Given the description of an element on the screen output the (x, y) to click on. 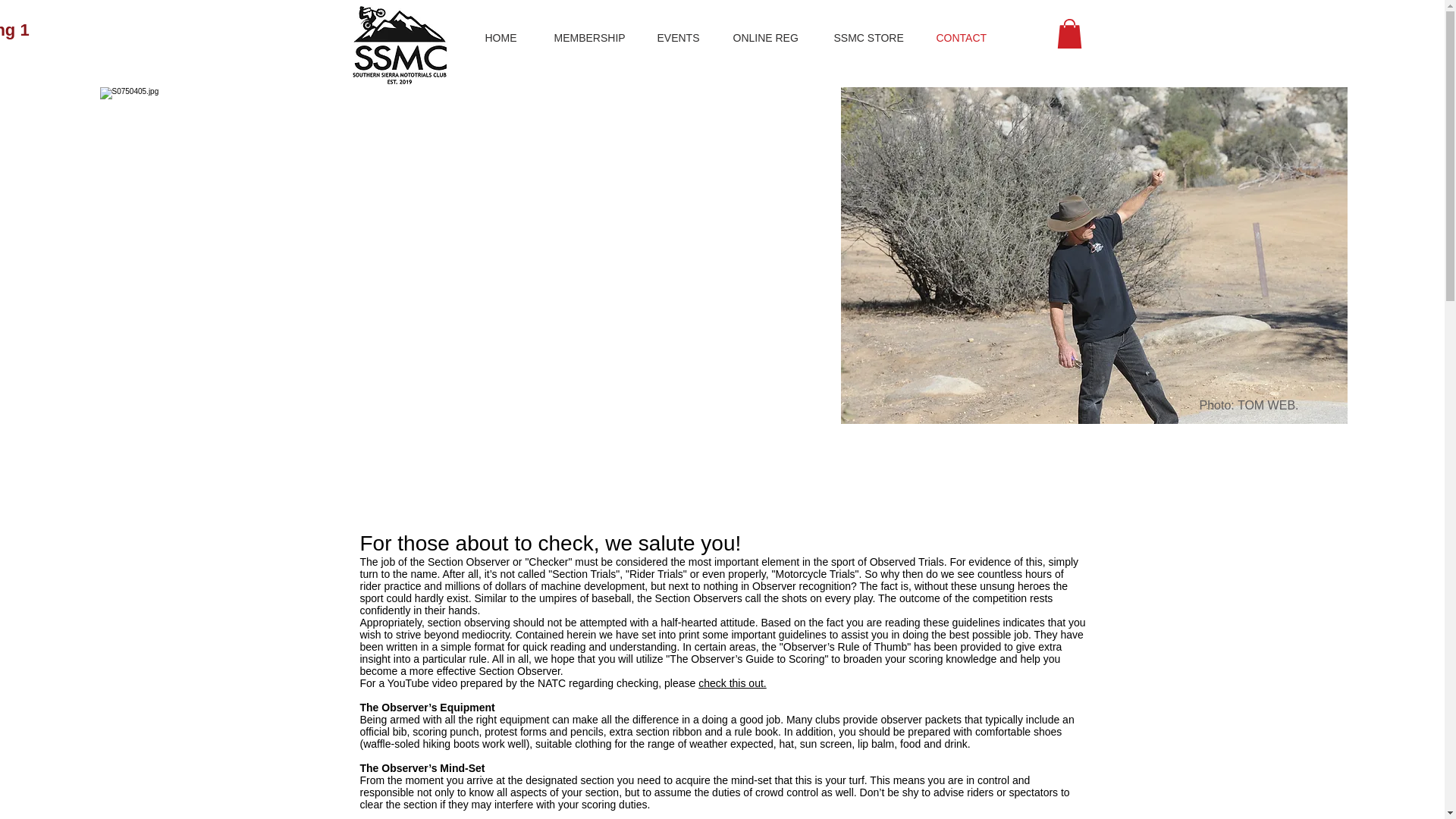
EVENTS (684, 37)
SSMC STORE (873, 37)
CONTACT (968, 37)
ONLINE REG (772, 37)
MEMBERSHIP (594, 37)
HOME (507, 37)
check this out. (732, 683)
